Given the description of an element on the screen output the (x, y) to click on. 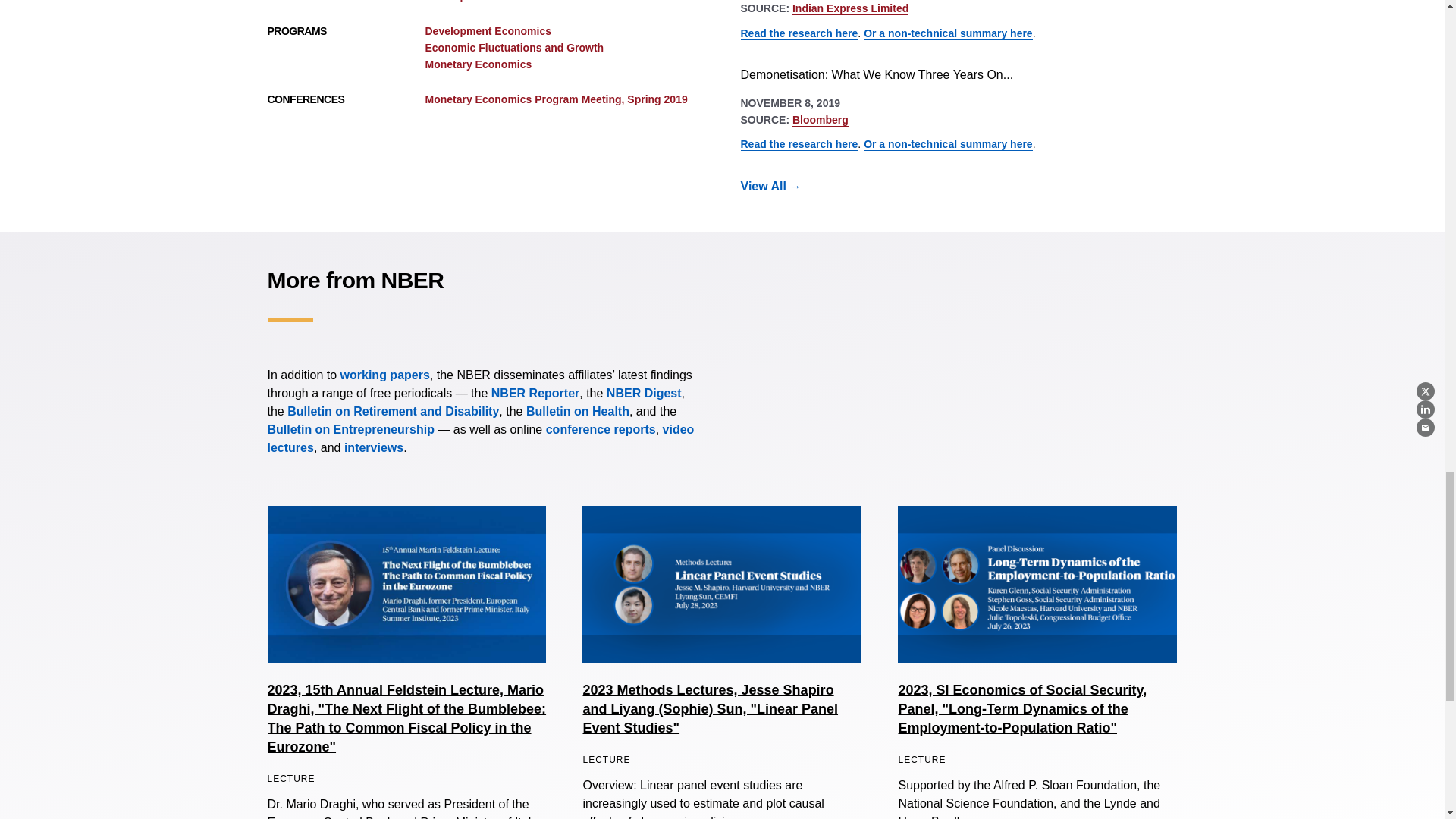
Working Papers (384, 374)
View all references to this paper (778, 186)
Conferences (601, 429)
Lectures (480, 438)
Research Spotlights (373, 447)
